Given the description of an element on the screen output the (x, y) to click on. 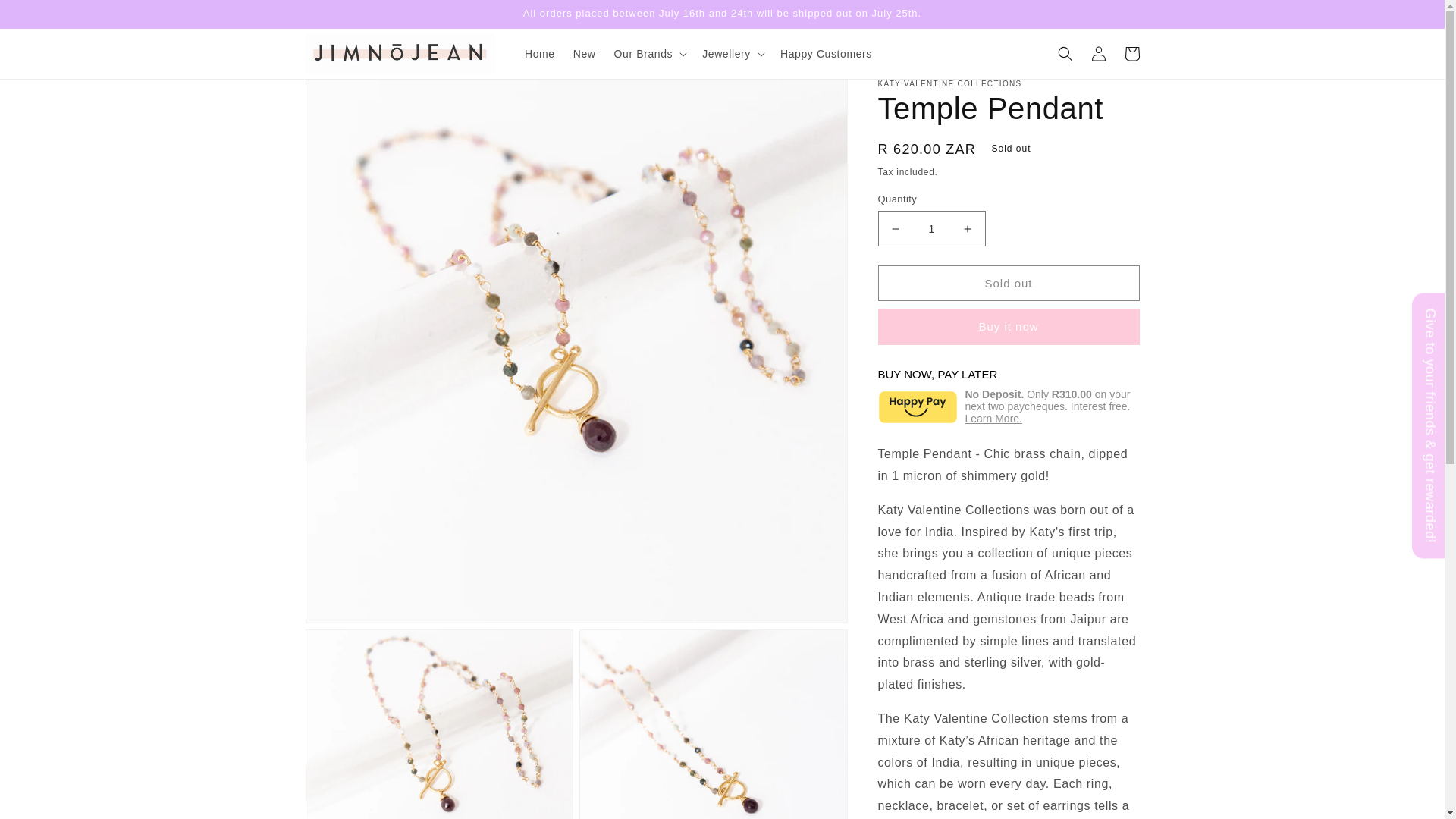
Skip to content (45, 17)
1 (931, 228)
New (584, 53)
Home (539, 53)
